Given the description of an element on the screen output the (x, y) to click on. 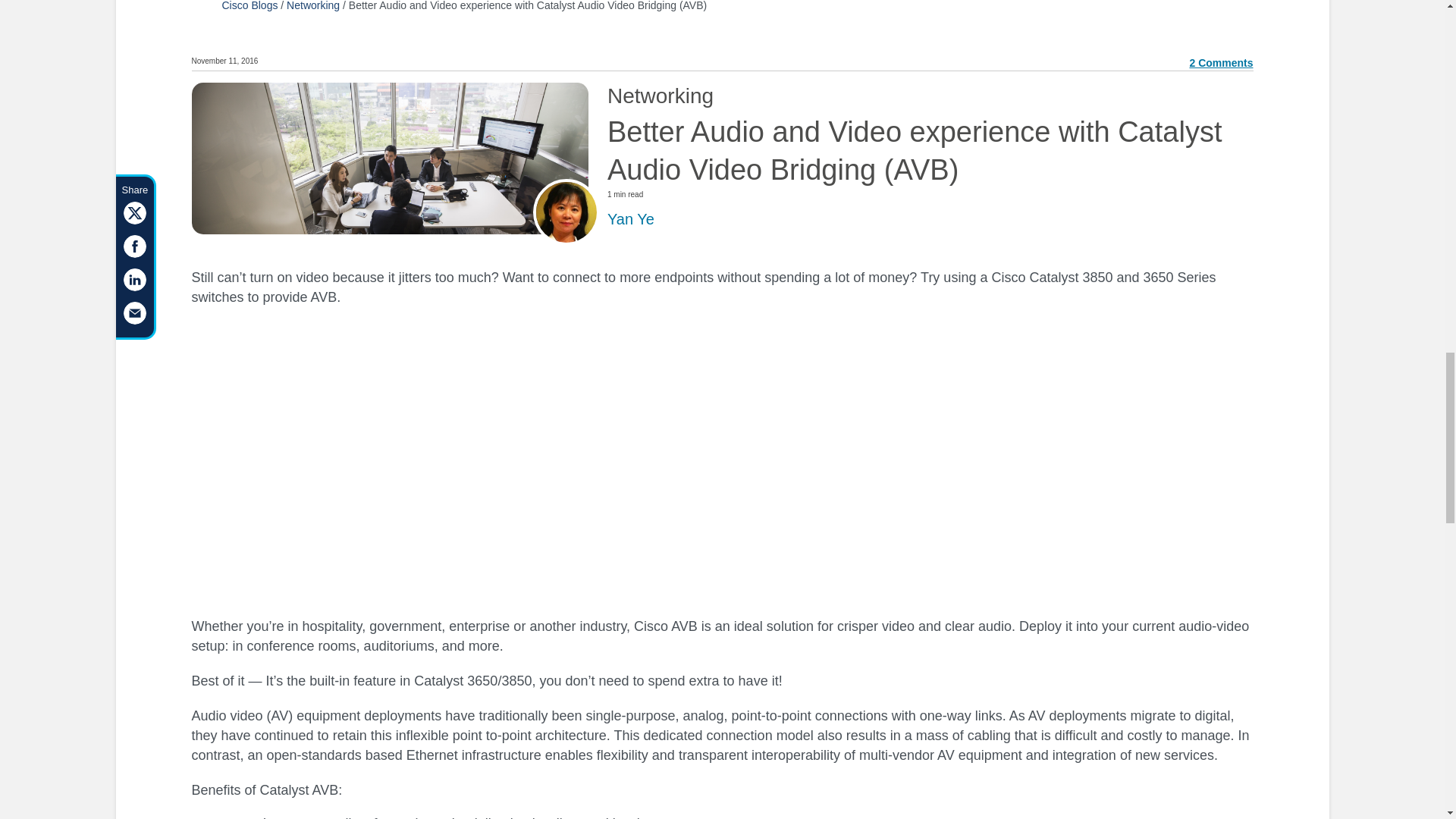
Posts by Yan Ye (630, 218)
Cisco Blogs (249, 5)
Networking (312, 5)
Yan Ye (630, 218)
